Given the description of an element on the screen output the (x, y) to click on. 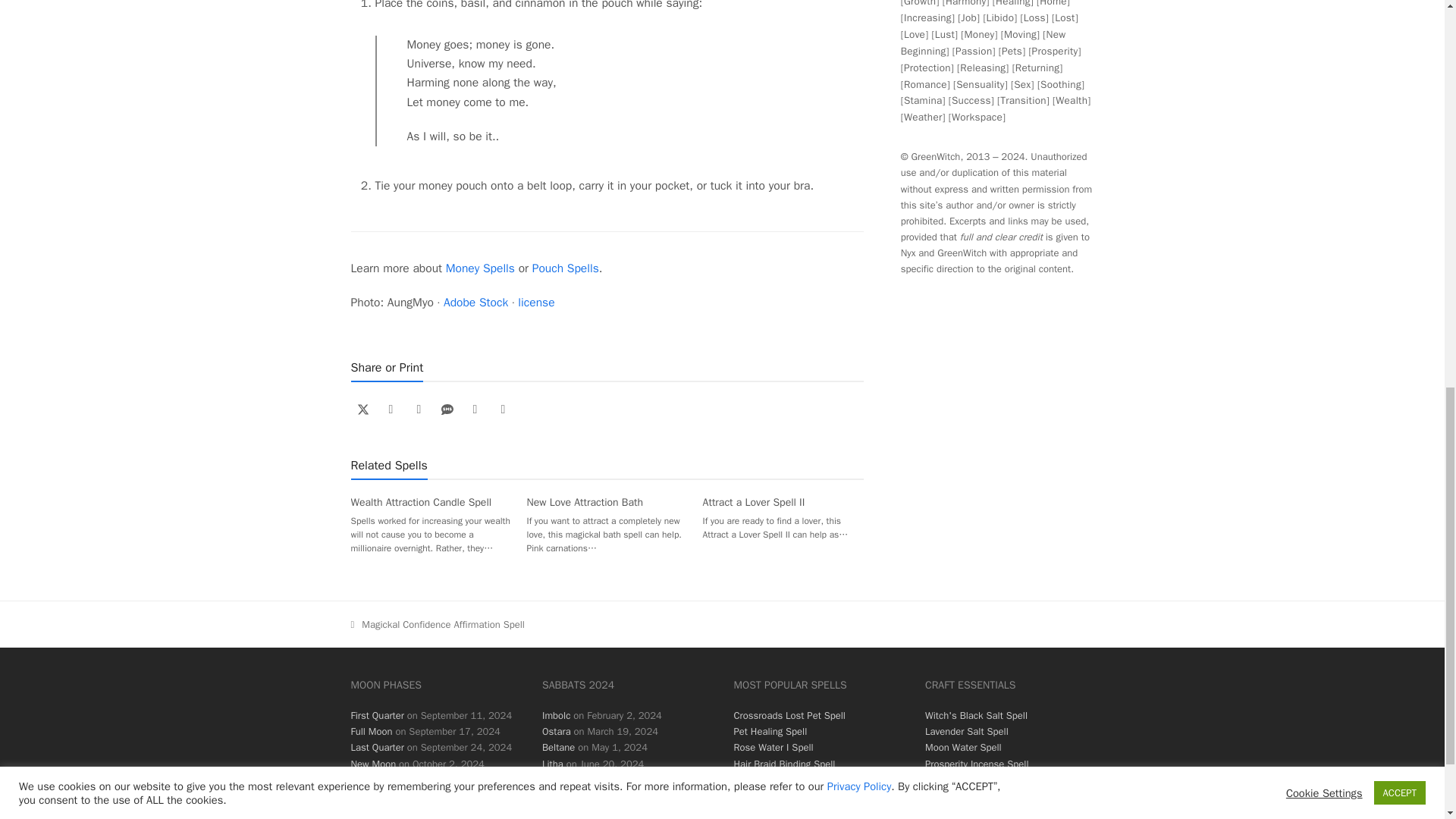
Hair Braid Binding Spell (784, 763)
Rose Water I Spell (773, 747)
Crossroads Lost Pet Spell (789, 715)
Pet Protection Spell (775, 779)
Pet Healing Spell (770, 730)
Job Interview Success Spell (793, 795)
